Given the description of an element on the screen output the (x, y) to click on. 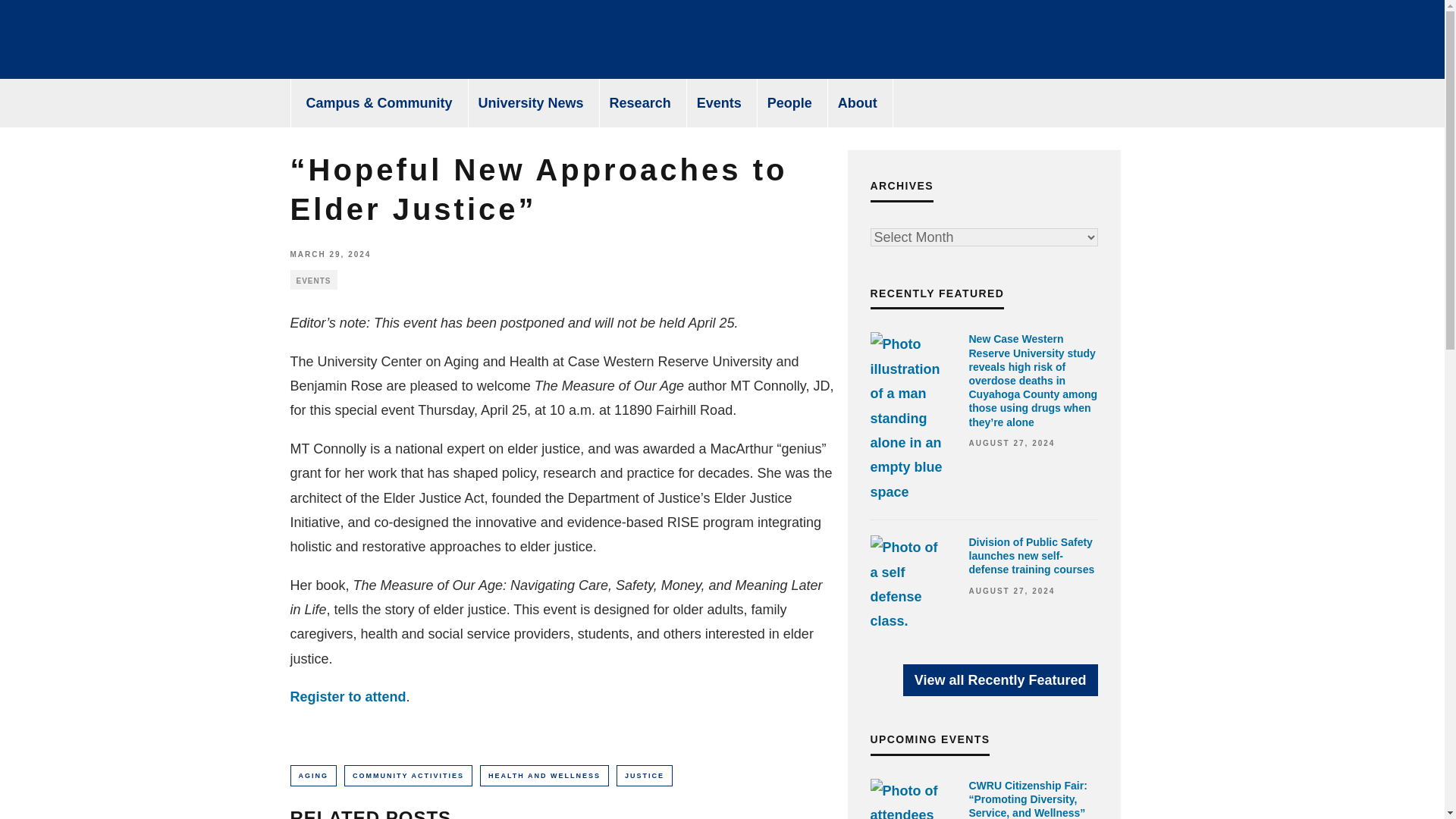
AGING (312, 775)
View all Recently Featured (999, 680)
EVENTS (312, 279)
JUSTICE (643, 775)
HEALTH AND WELLNESS (544, 775)
People (790, 102)
Research (640, 102)
About (857, 102)
Register to attend (347, 696)
University News (531, 102)
